Given the description of an element on the screen output the (x, y) to click on. 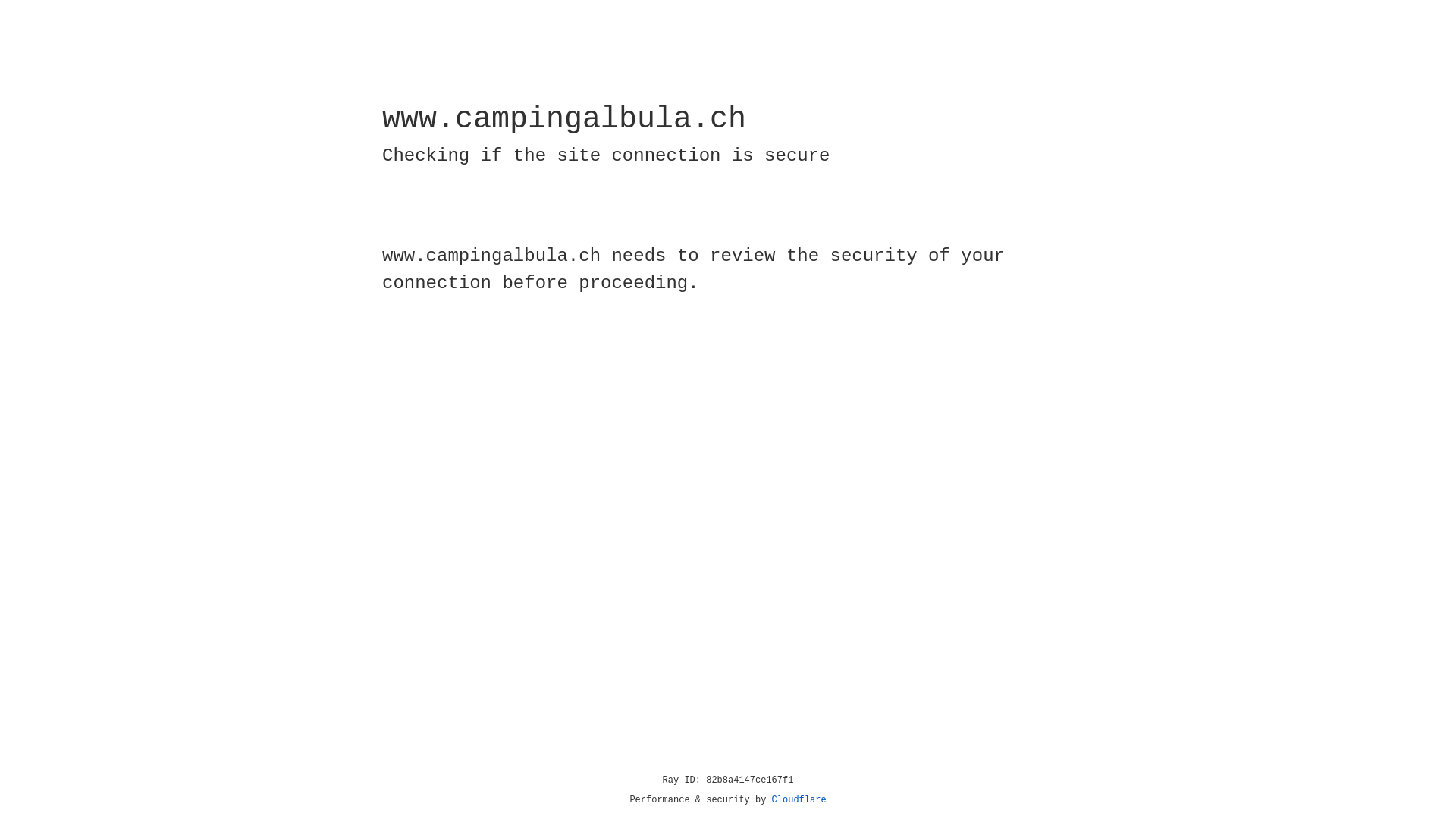
Cloudflare Element type: text (798, 799)
